Given the description of an element on the screen output the (x, y) to click on. 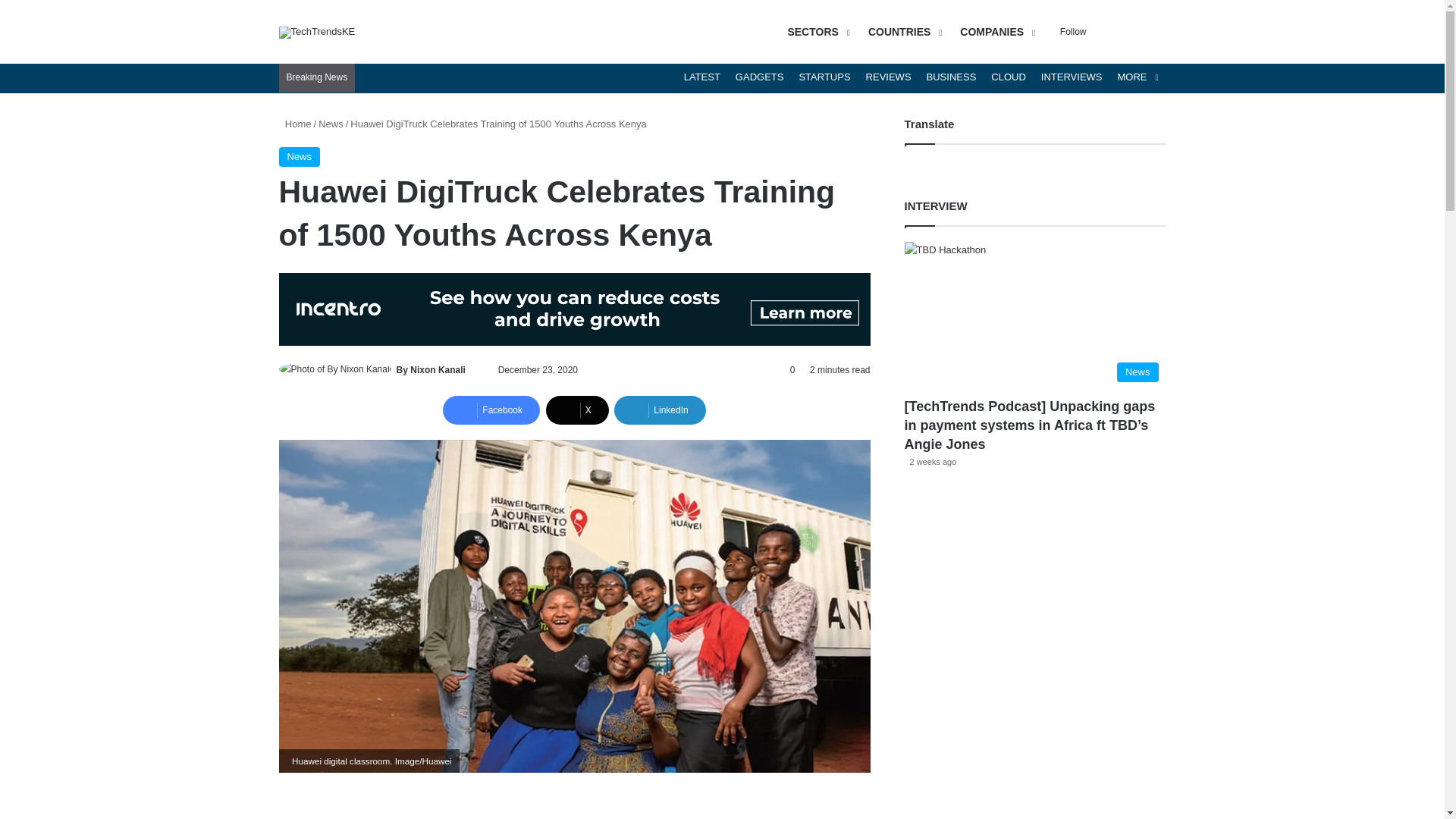
X (577, 410)
LinkedIn (659, 410)
COUNTRIES (903, 31)
SECTORS (816, 31)
COMPANIES (995, 31)
Facebook (491, 410)
By Nixon Kanali (430, 369)
TechTrendsKE (317, 31)
